Given the description of an element on the screen output the (x, y) to click on. 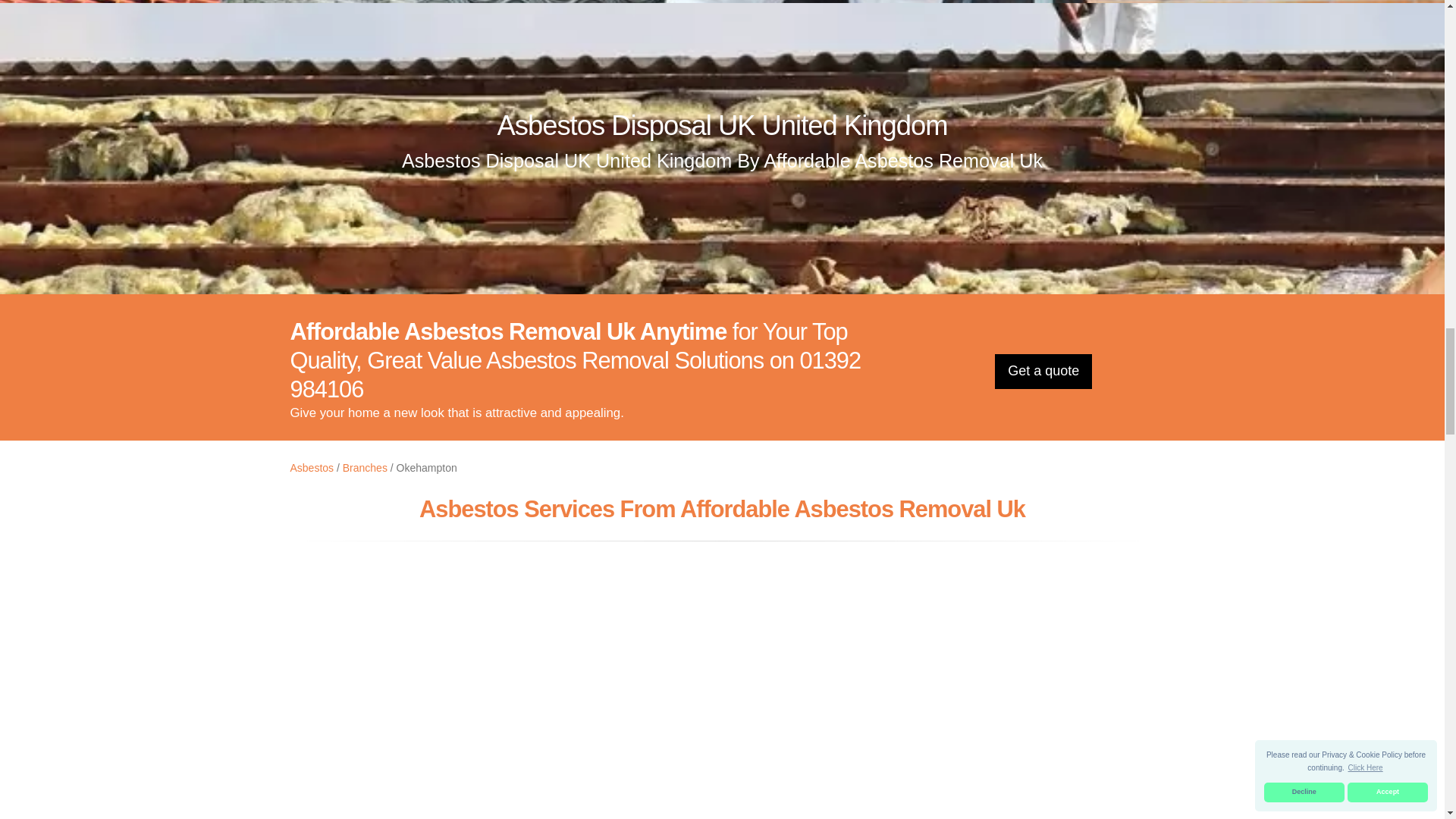
Branches (364, 467)
Get a quote (1043, 371)
Asbestos (311, 467)
Asbestos Disposal UK United Kingdom (721, 124)
